Given the description of an element on the screen output the (x, y) to click on. 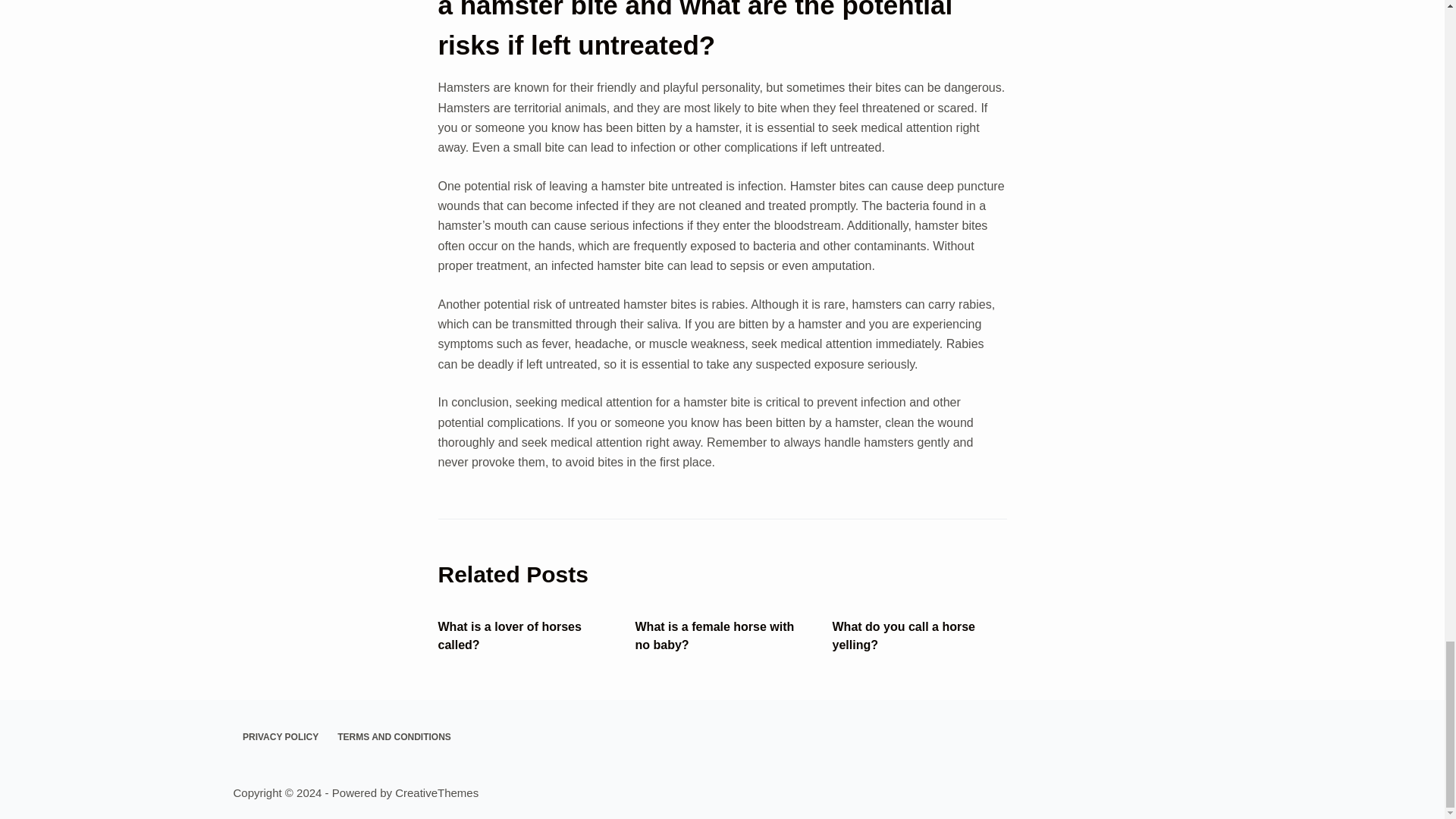
TERMS AND CONDITIONS (395, 737)
PRIVACY POLICY (280, 737)
What is a lover of horses called? (509, 635)
What is a female horse with no baby? (714, 635)
What do you call a horse yelling? (903, 635)
